Given the description of an element on the screen output the (x, y) to click on. 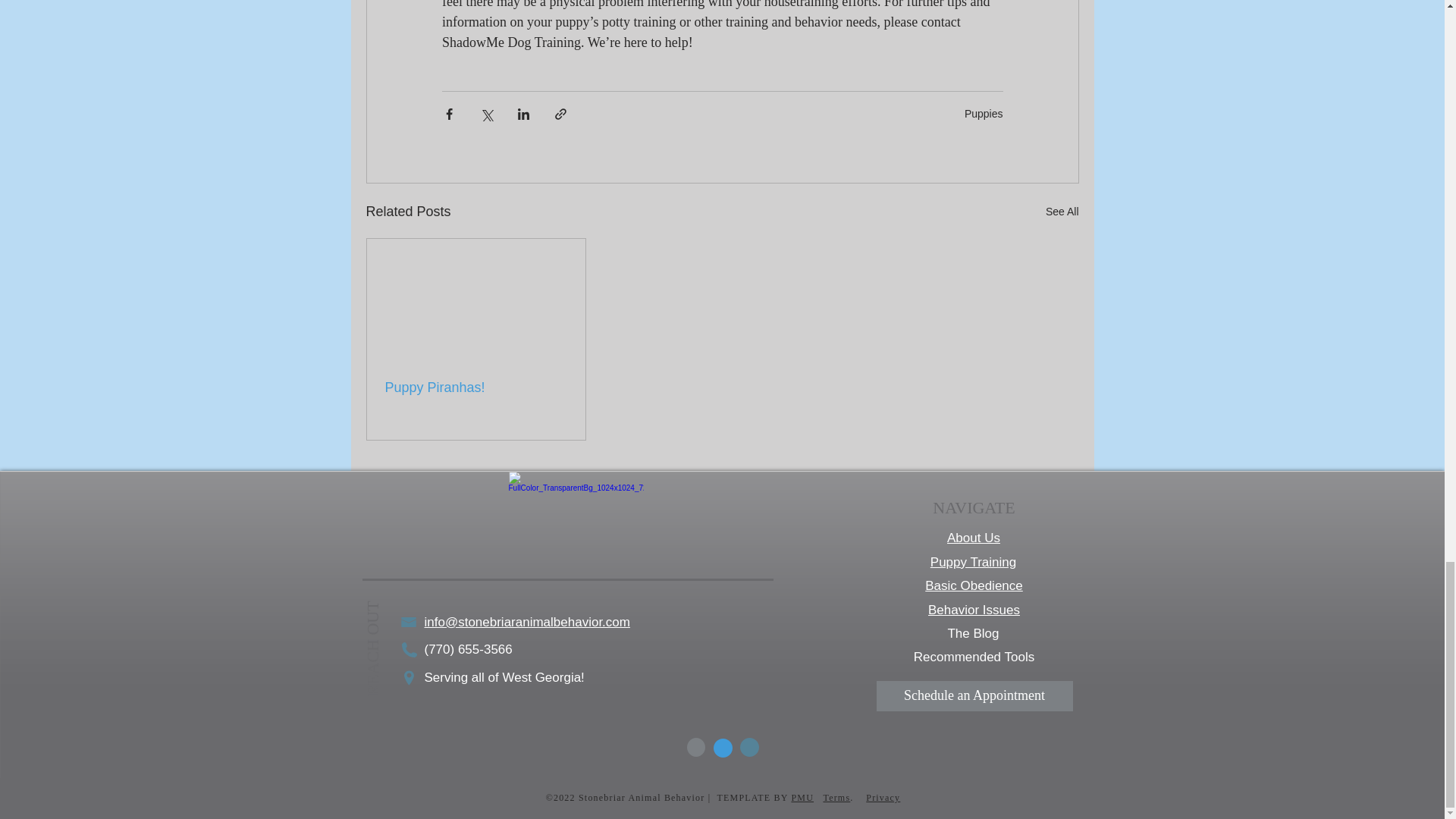
Puppy Piranhas! (476, 387)
About Us (973, 537)
See All (1061, 211)
Puppy Training (973, 562)
Puppies (983, 113)
